Given the description of an element on the screen output the (x, y) to click on. 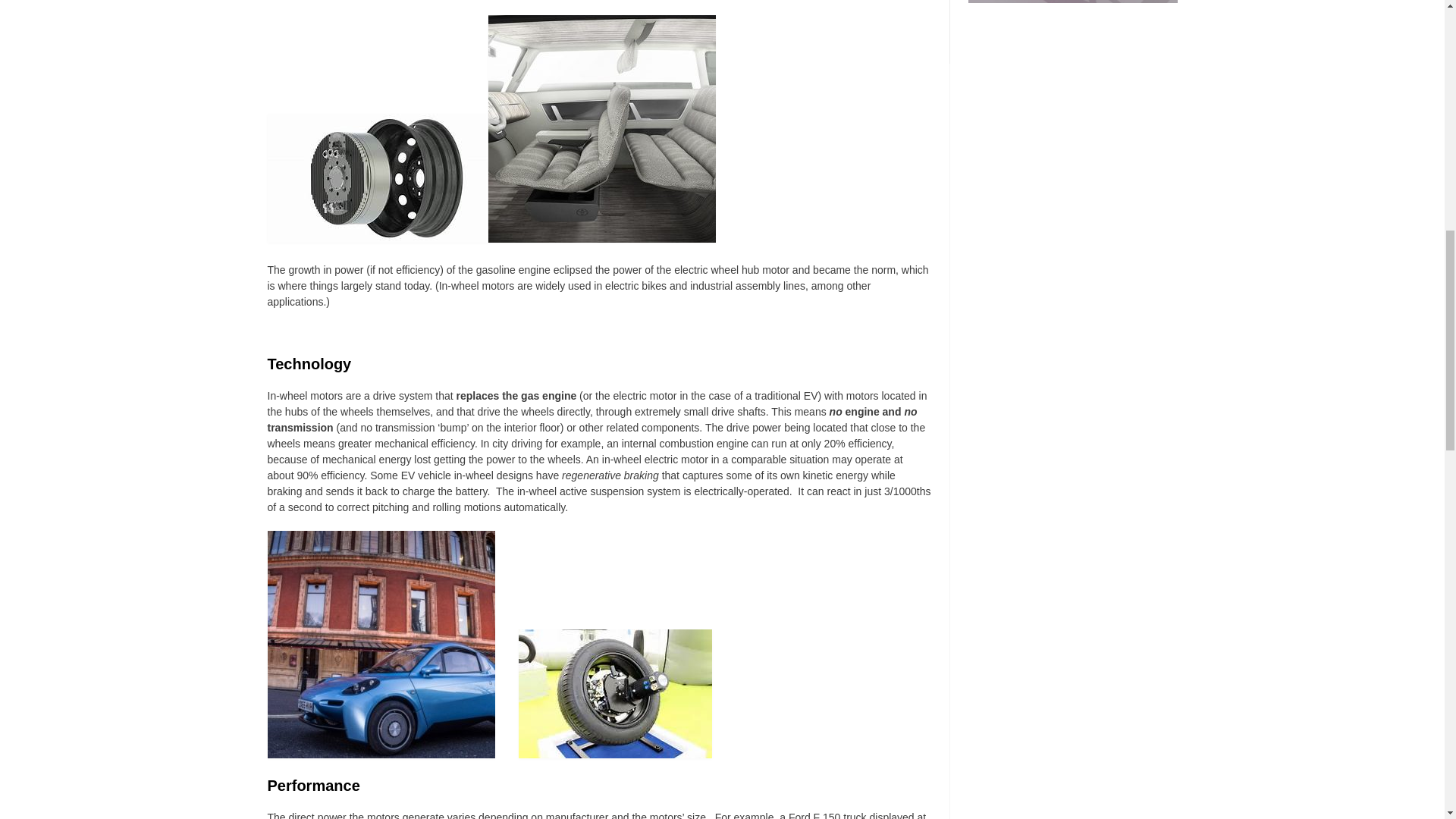
SMW Wheels (1072, 1)
SMW Wheels (863, 1)
